Given the description of an element on the screen output the (x, y) to click on. 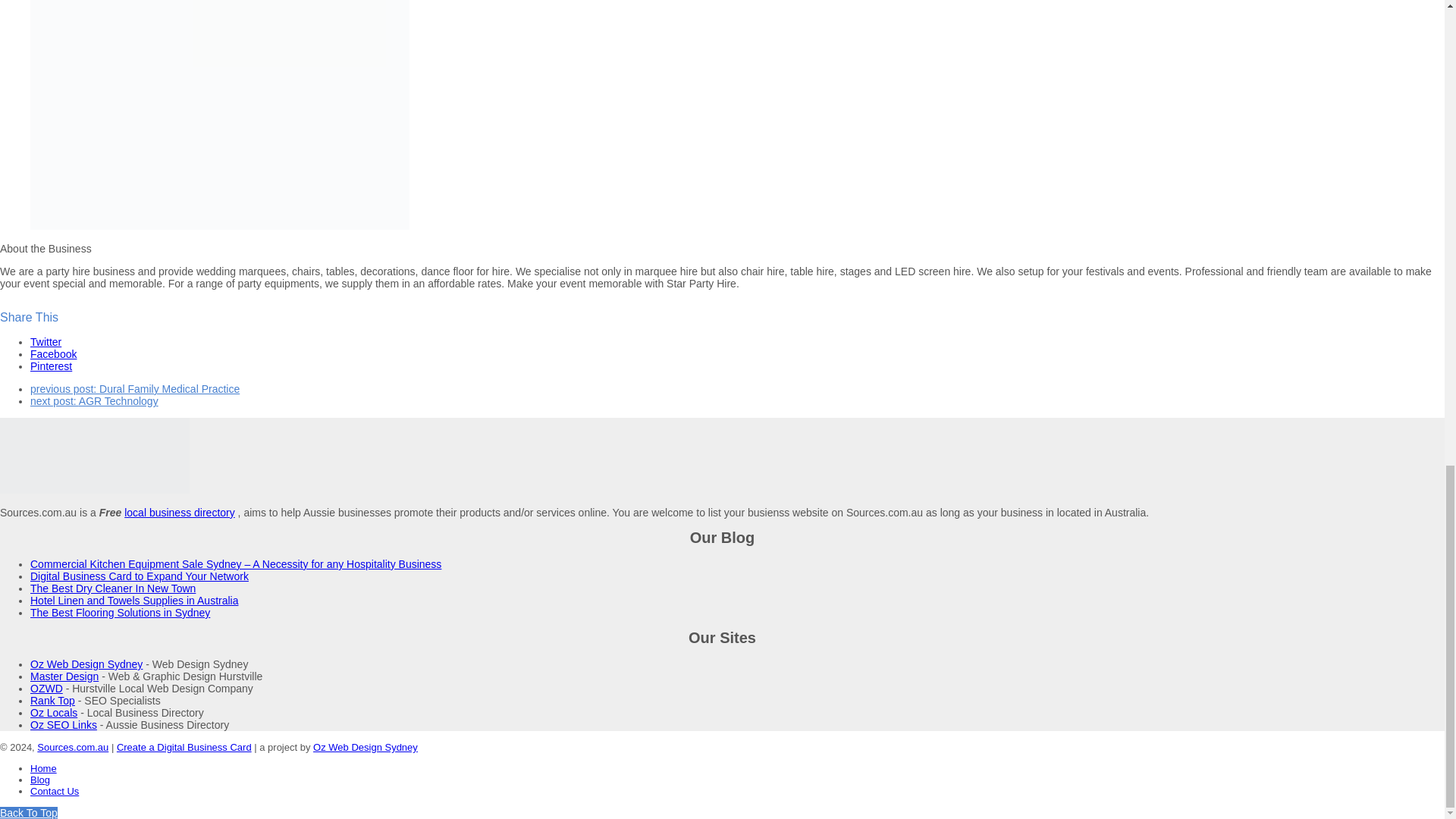
web design sydney (86, 664)
OZWD (46, 688)
previous post: Dural Family Medical Practice (135, 388)
australian business directory (63, 725)
australian business directory (53, 712)
Digital Business Card to Expand Your Network (139, 576)
Master Design (64, 676)
The Best Flooring Solutions in Sydney (119, 612)
web design hurstville (64, 676)
Facebook (53, 354)
web designer hurstville (46, 688)
Hotel Linen and Towels Supplies in Australia (134, 600)
digital business card (183, 747)
seo hurstville (52, 700)
Twitter (45, 341)
